Given the description of an element on the screen output the (x, y) to click on. 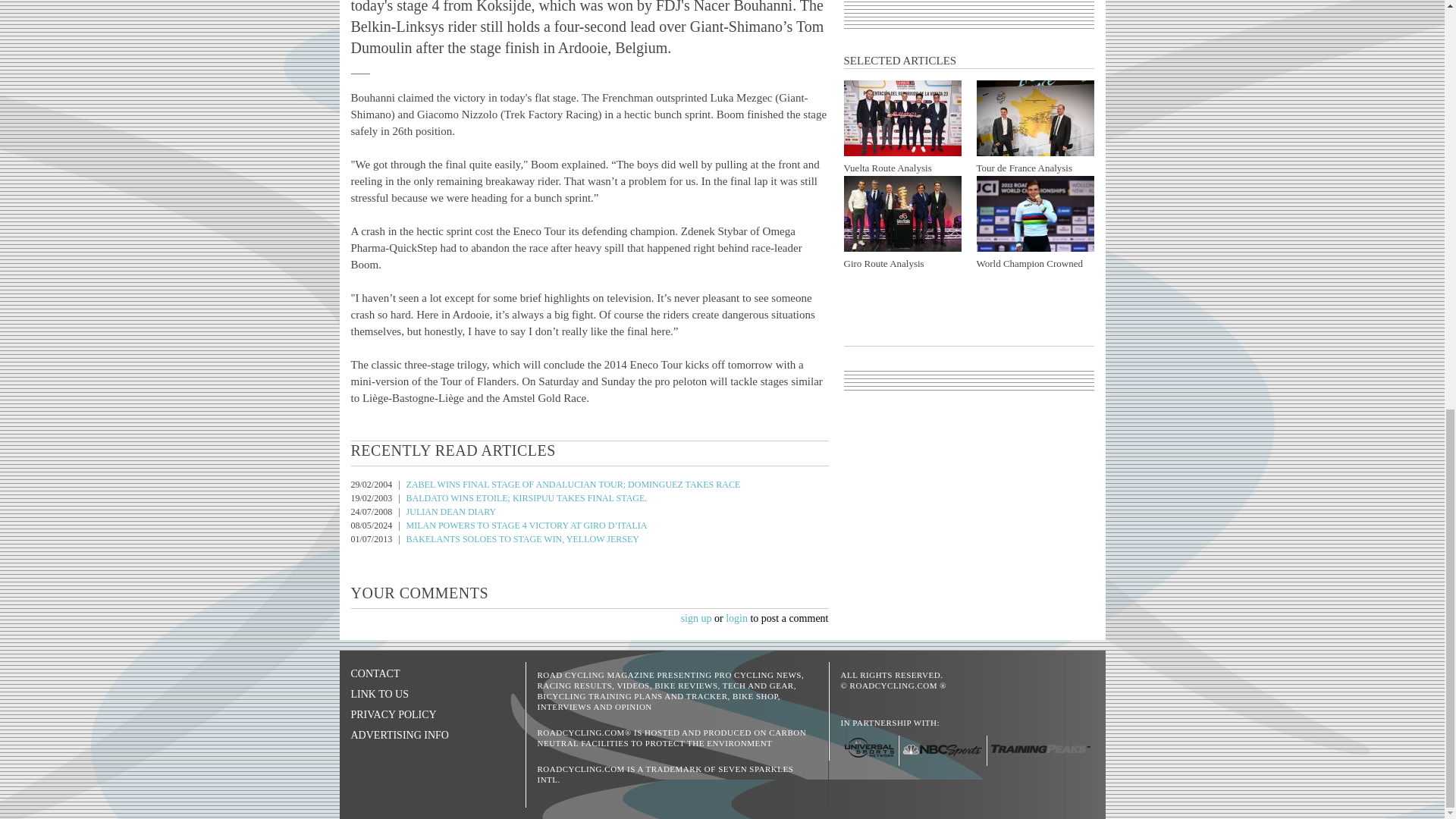
BAKELANTS SOLOES TO STAGE WIN, YELLOW JERSEY (522, 538)
BALDATO WINS ETOILE; KIRSIPUU TAKES FINAL STAGE. (526, 498)
Advertisement (969, 9)
login (736, 618)
JULIAN DEAN DIARY (451, 511)
sign up (696, 618)
